Given the description of an element on the screen output the (x, y) to click on. 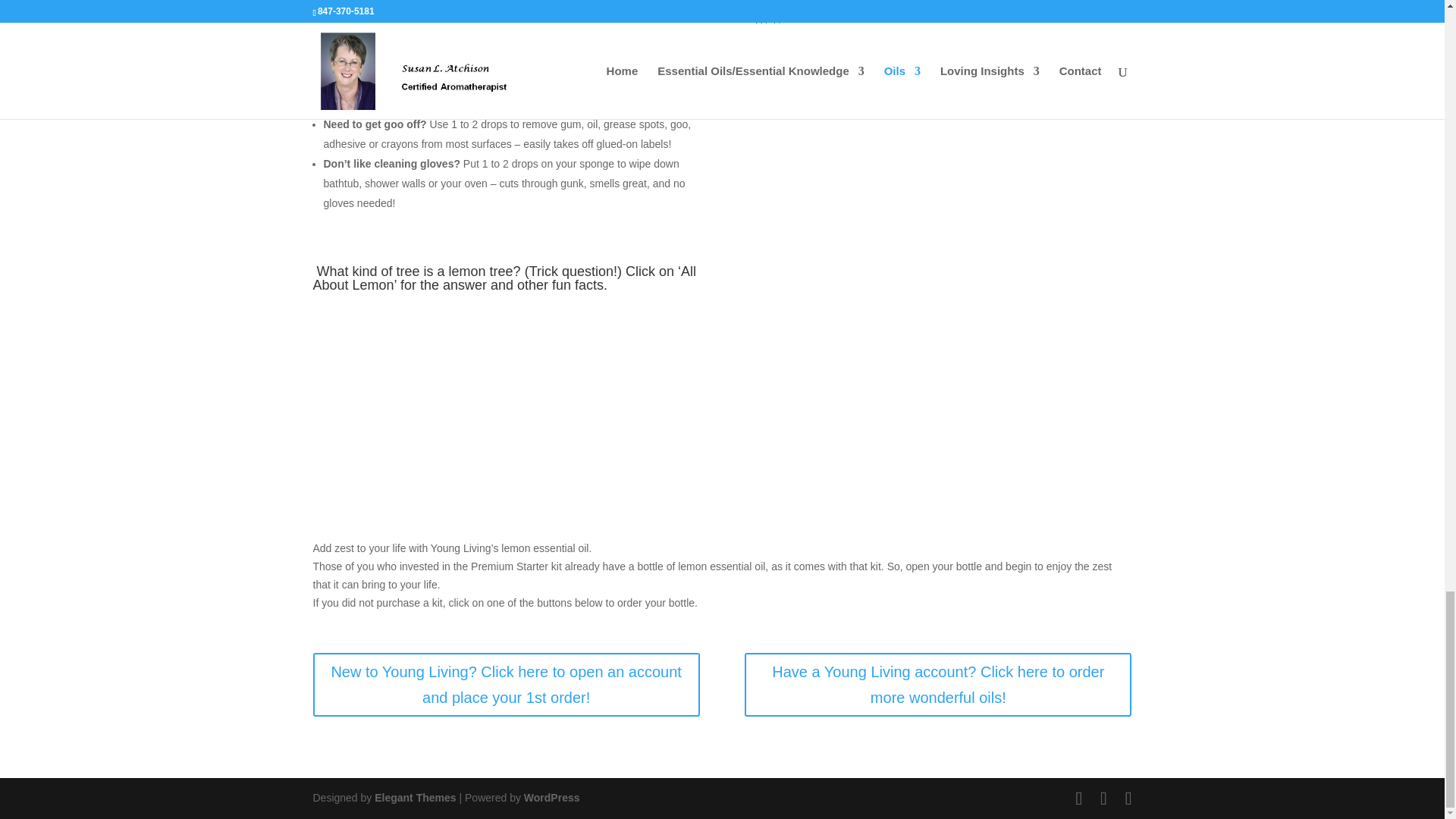
Premium WordPress Themes (414, 797)
